Given the description of an element on the screen output the (x, y) to click on. 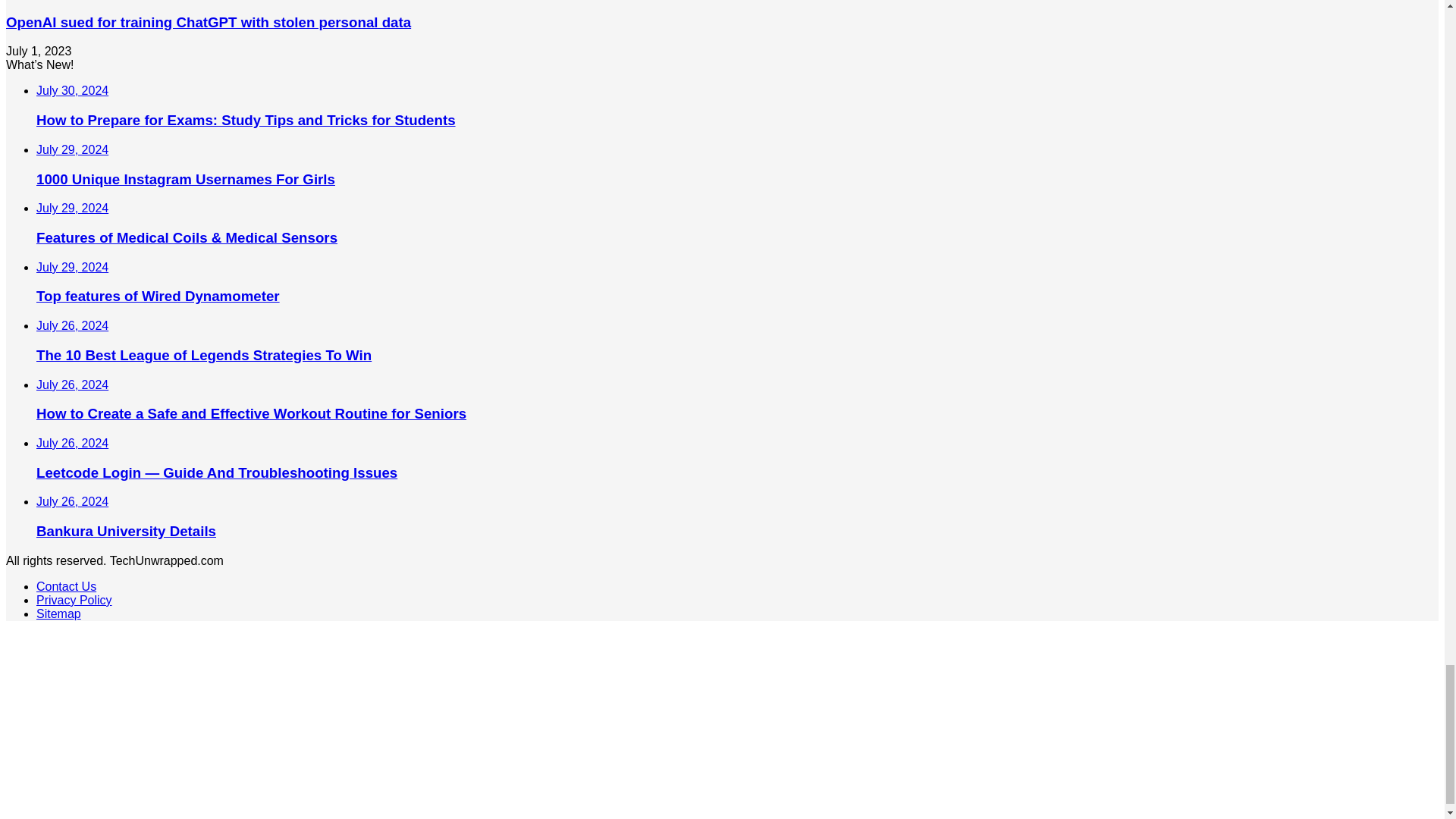
OpenAI sued for training ChatGPT with stolen personal data (207, 22)
Sitemap (58, 613)
Privacy Policy (74, 599)
Contact Us (66, 585)
